Given the description of an element on the screen output the (x, y) to click on. 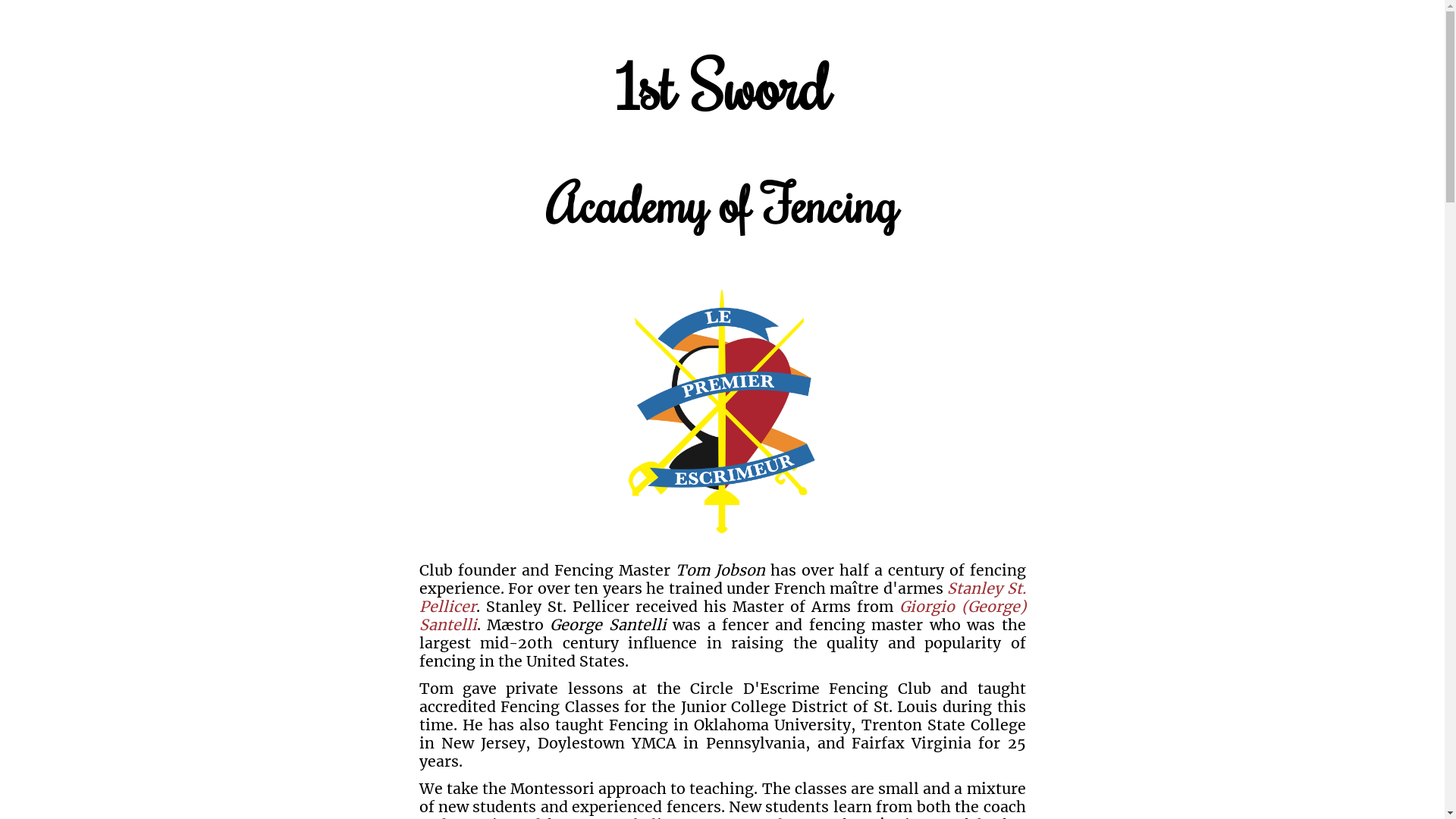
Stanley St. Pellicer Element type: text (721, 597)
Giorgio (George) Santelli Element type: text (721, 615)
